Given the description of an element on the screen output the (x, y) to click on. 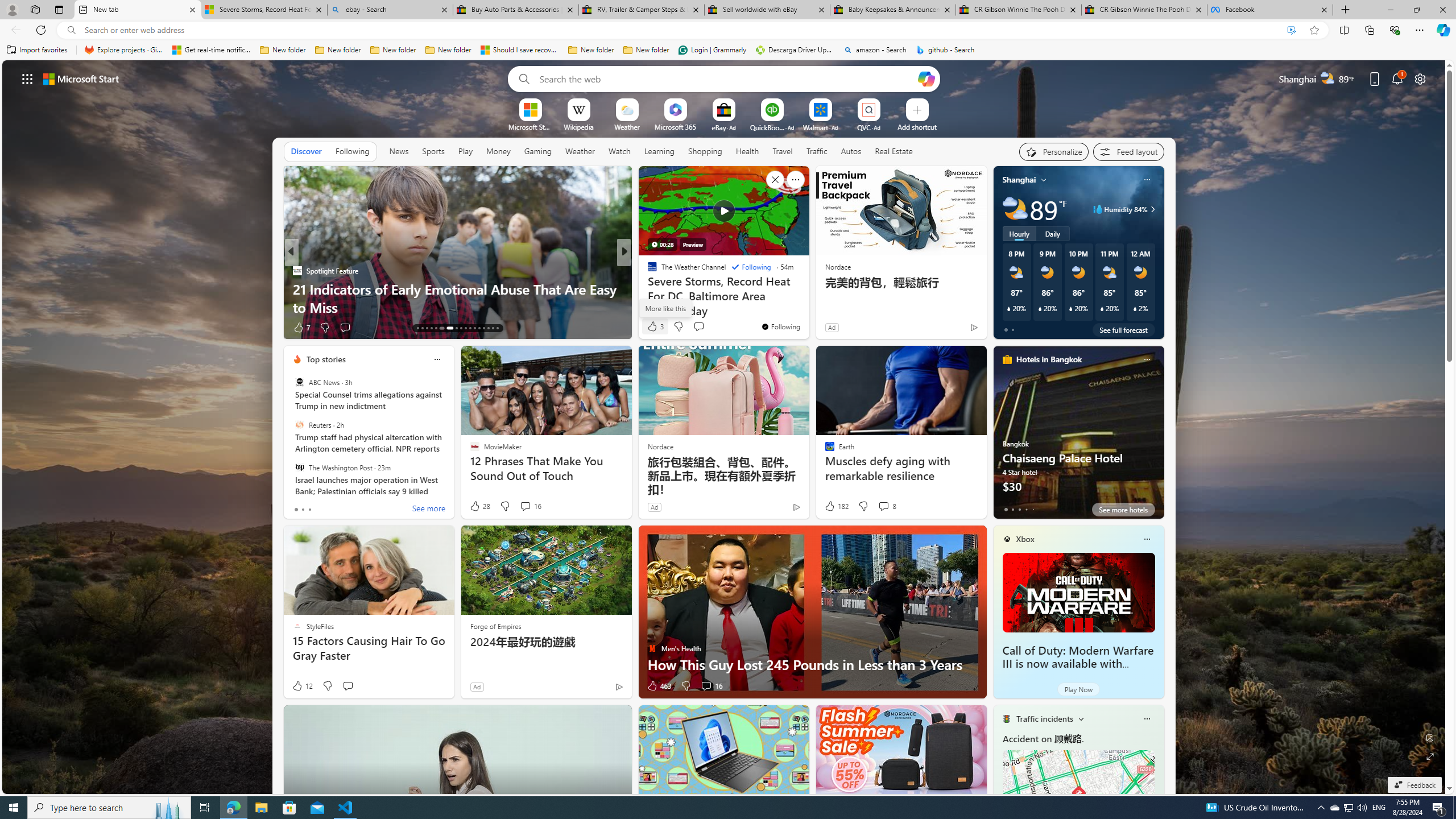
AutomationID: tab-27 (488, 328)
Login | Grammarly (712, 49)
Expand background (1430, 756)
Special Personal Offer (807, 307)
Add a site (916, 126)
NBC News (647, 270)
Shanghai (1018, 179)
AutomationID: tab-28 (492, 328)
32 Like (652, 327)
